Given the description of an element on the screen output the (x, y) to click on. 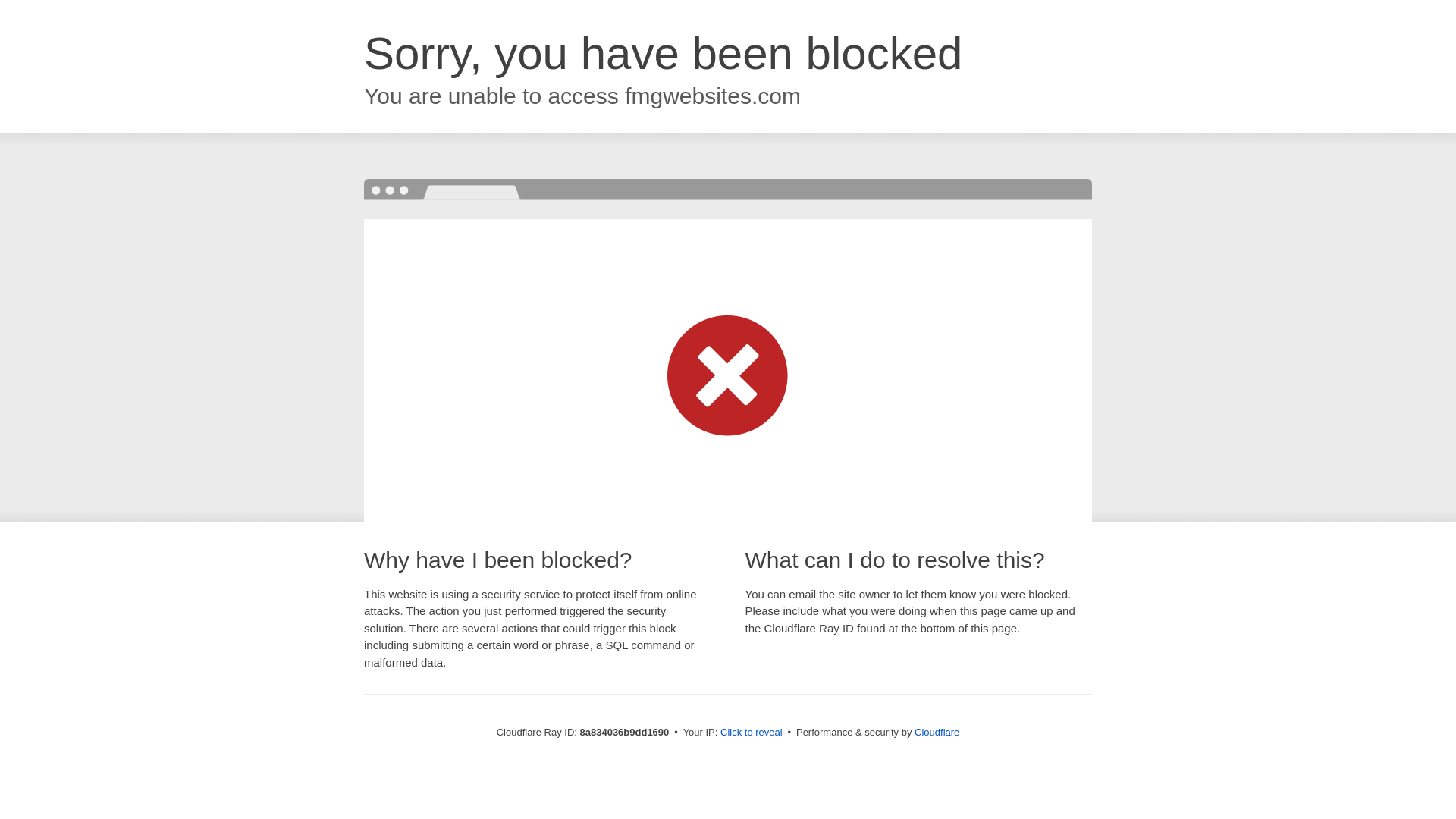
Cloudflare (936, 731)
Click to reveal (751, 732)
